Given the description of an element on the screen output the (x, y) to click on. 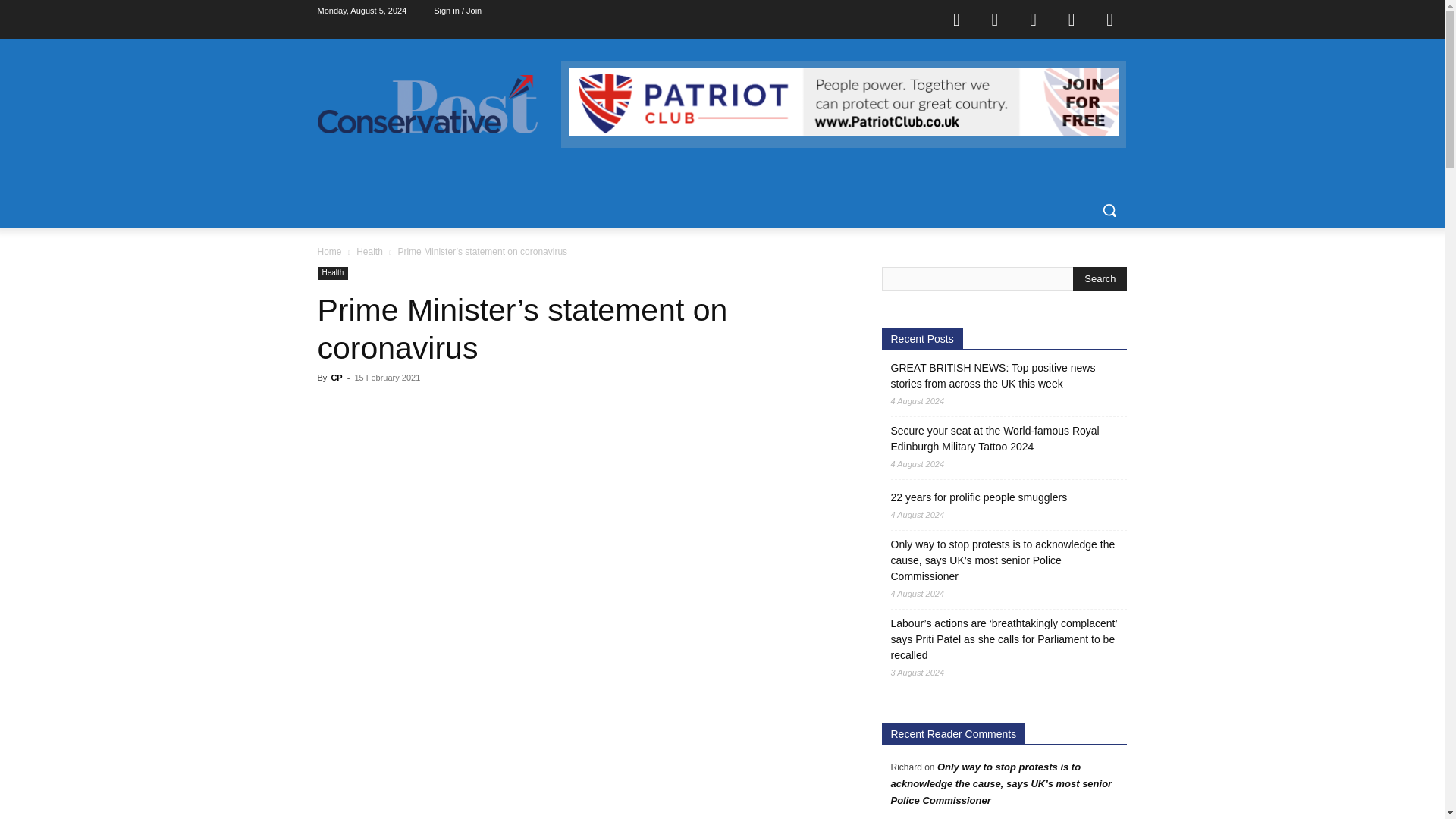
Home (328, 251)
Health (369, 251)
CP (336, 377)
View all posts in Health (369, 251)
Search (1099, 278)
Instagram (993, 18)
Health (332, 273)
Youtube (1109, 18)
Twitter (1071, 18)
Conservative Post (427, 104)
Conservative Post (438, 104)
Mail (1033, 18)
Facebook (956, 18)
